Given the description of an element on the screen output the (x, y) to click on. 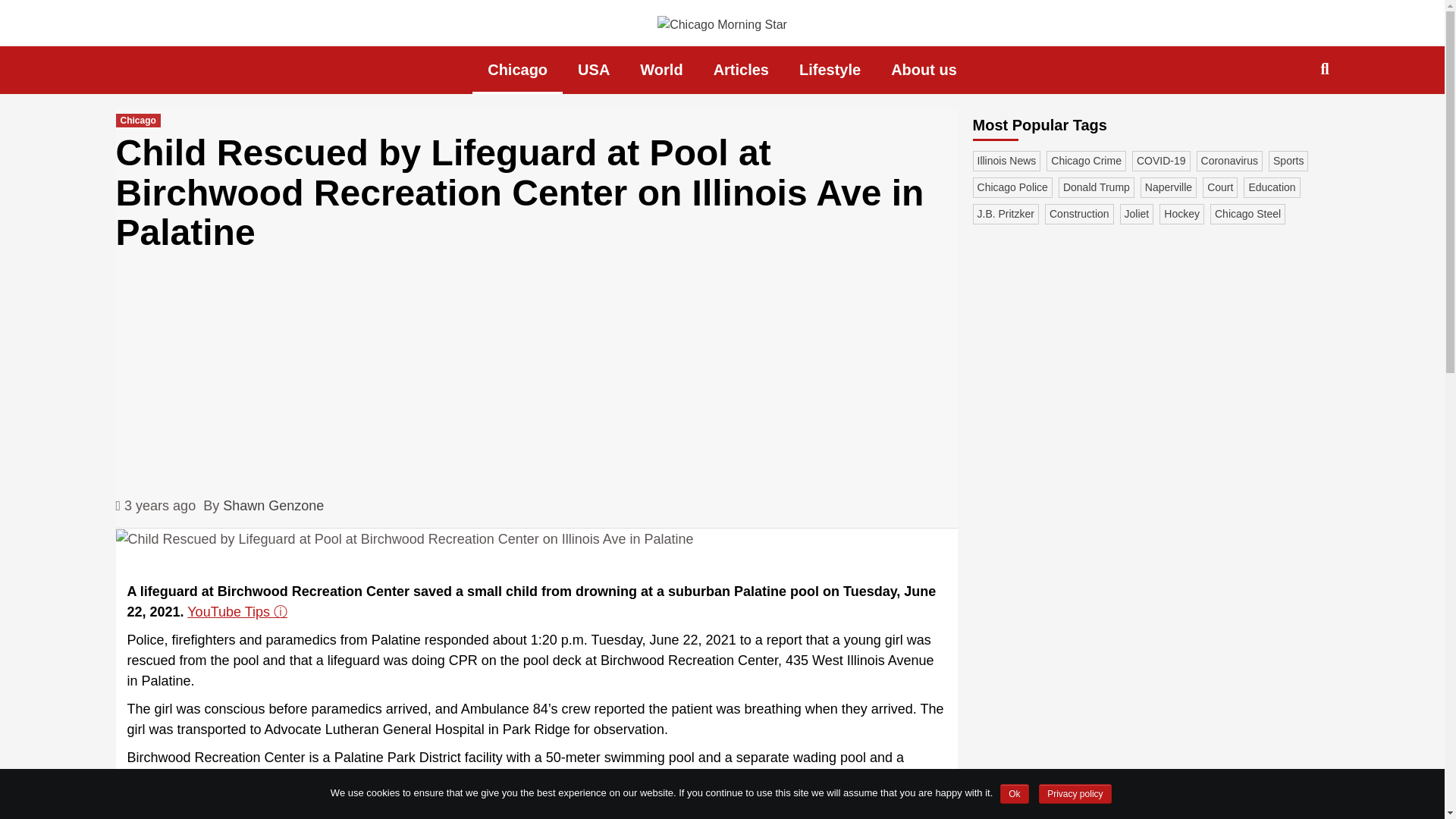
World (660, 69)
Chicago (516, 69)
Shawn Genzone (272, 506)
About us (924, 69)
Articles (741, 69)
Original (151, 806)
Chicago Morning Star (390, 60)
Chicago (137, 120)
USA (593, 69)
Lifestyle (830, 69)
